Given the description of an element on the screen output the (x, y) to click on. 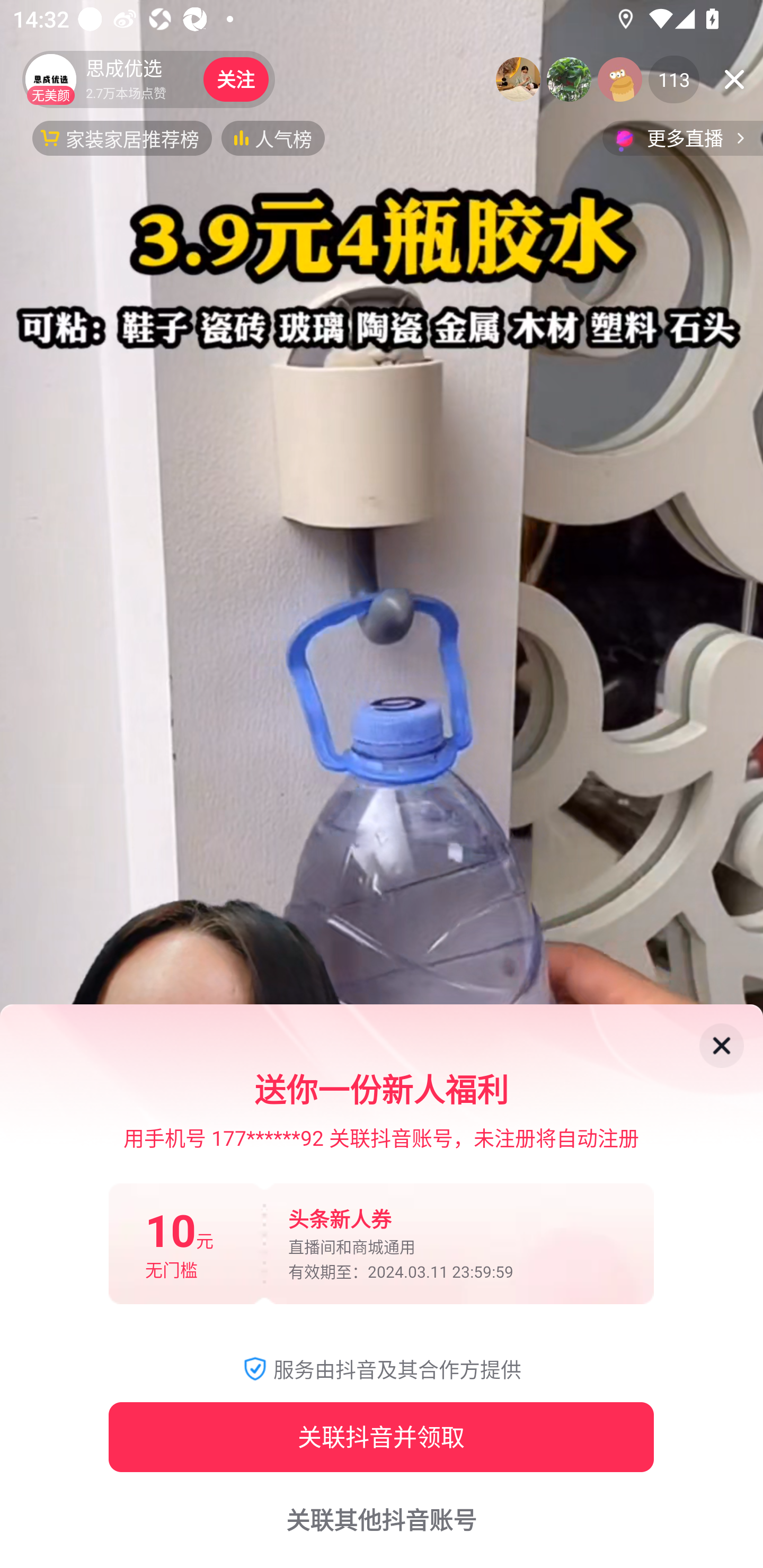
关联抖音并领取 (380, 1436)
关联其他抖音账号 (381, 1519)
